Given the description of an element on the screen output the (x, y) to click on. 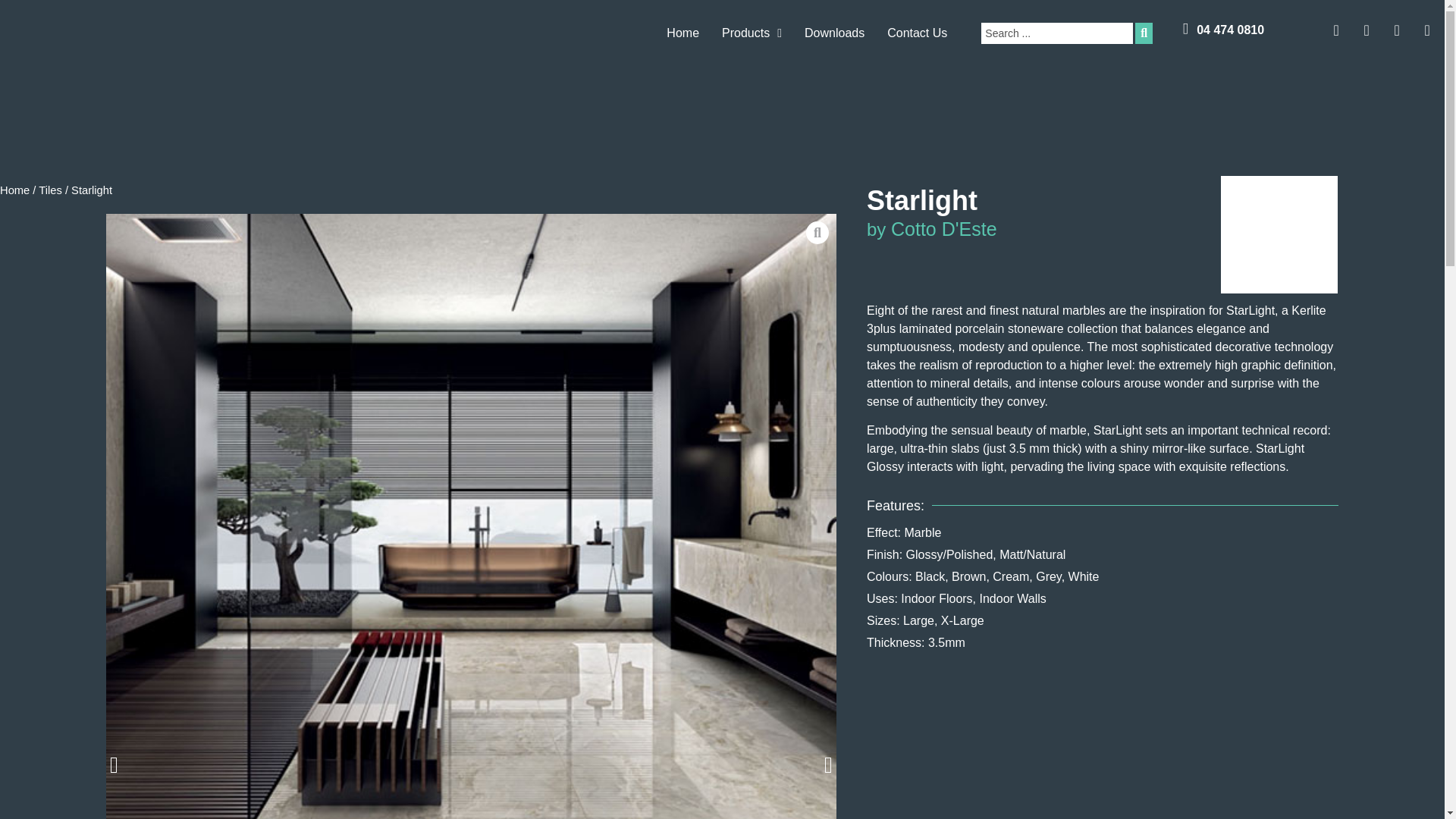
Products (751, 33)
Downloads (834, 33)
Products (751, 33)
04 474 0810 (1229, 29)
Home (682, 33)
Contact Us (917, 33)
Downloads (834, 33)
Tiles (50, 190)
Home (682, 33)
